Given the description of an element on the screen output the (x, y) to click on. 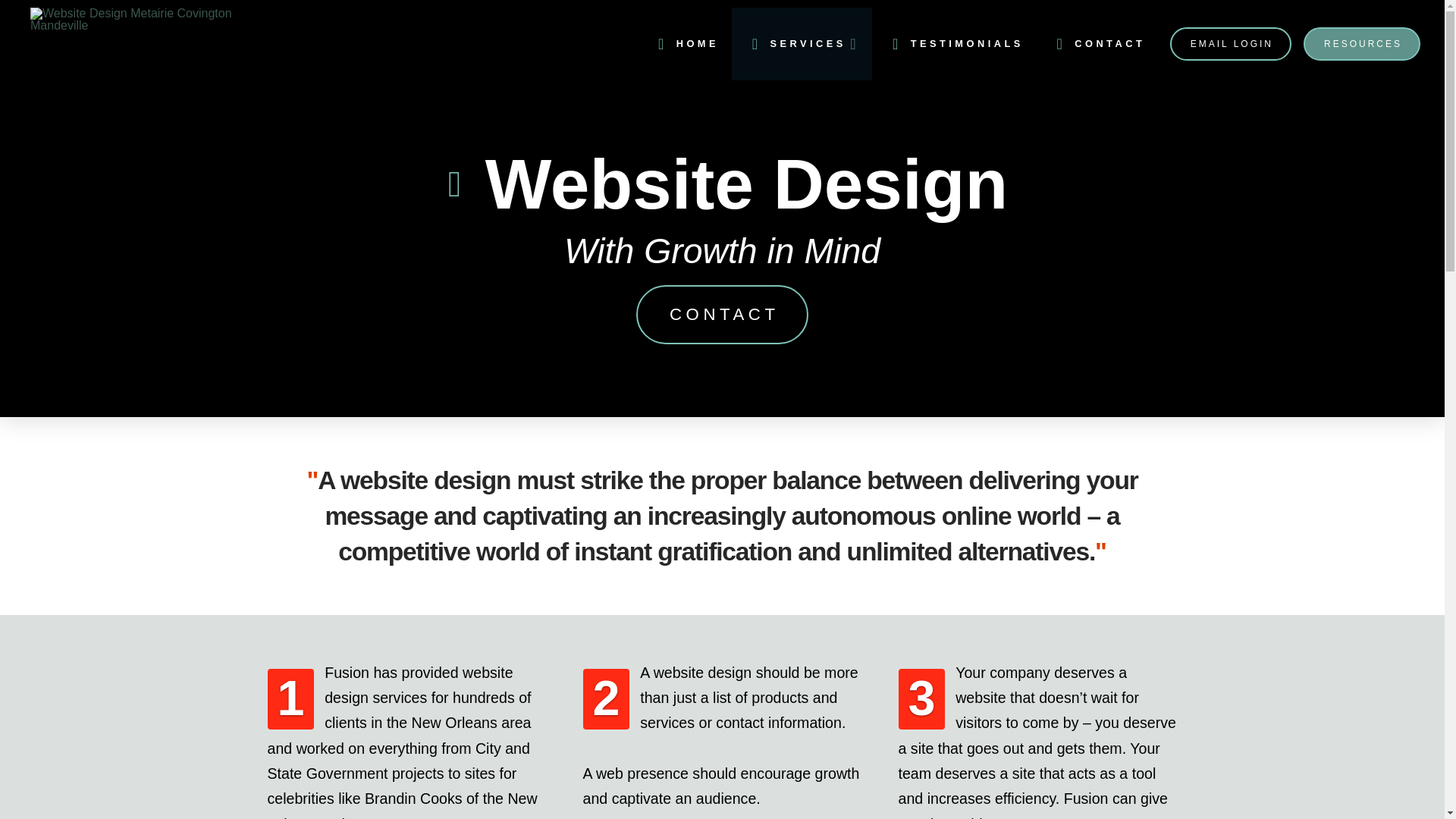
CONTACT (722, 314)
CONTACT (1096, 43)
SERVICES (800, 43)
HOME (684, 43)
EMAIL LOGIN (1230, 43)
RESOURCES (1362, 43)
TESTIMONIALS (954, 43)
